Given the description of an element on the screen output the (x, y) to click on. 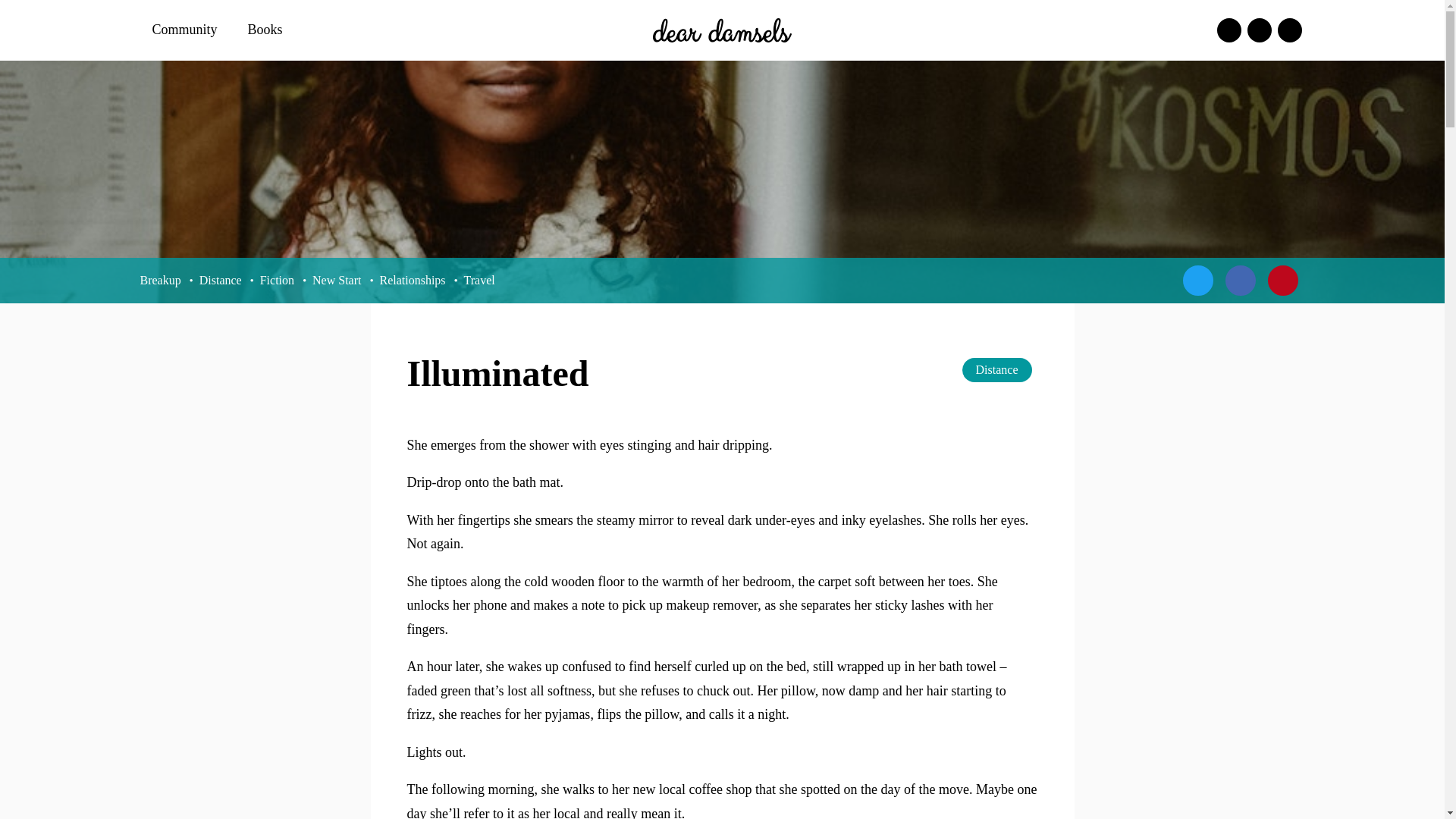
Distance (997, 369)
Breakup (159, 279)
Community (186, 30)
Relationships (411, 279)
Fiction (277, 279)
Distance (220, 279)
Travel (479, 279)
Books (267, 30)
New Start (337, 279)
